Given the description of an element on the screen output the (x, y) to click on. 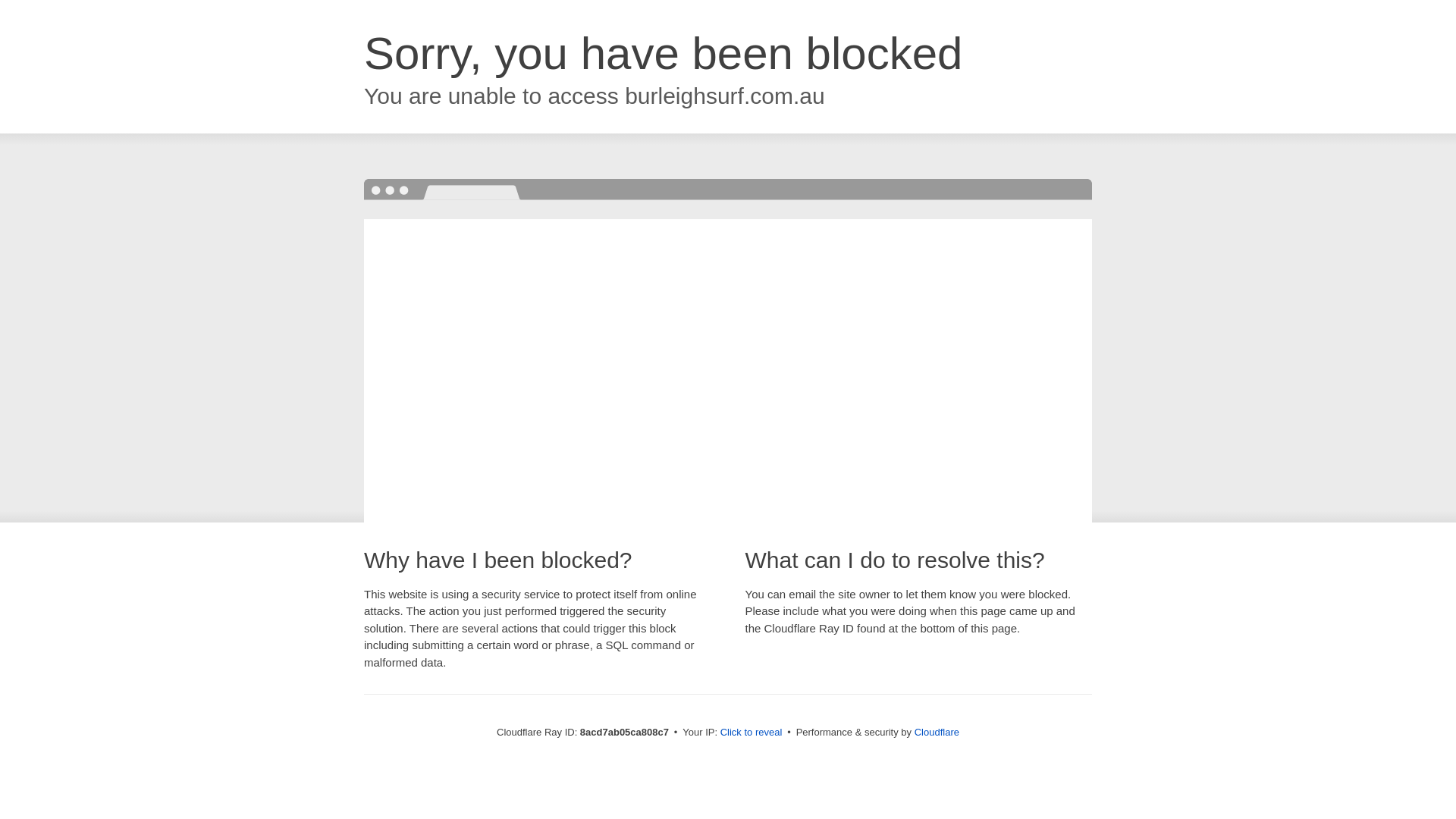
Cloudflare (936, 731)
Click to reveal (751, 732)
